Given the description of an element on the screen output the (x, y) to click on. 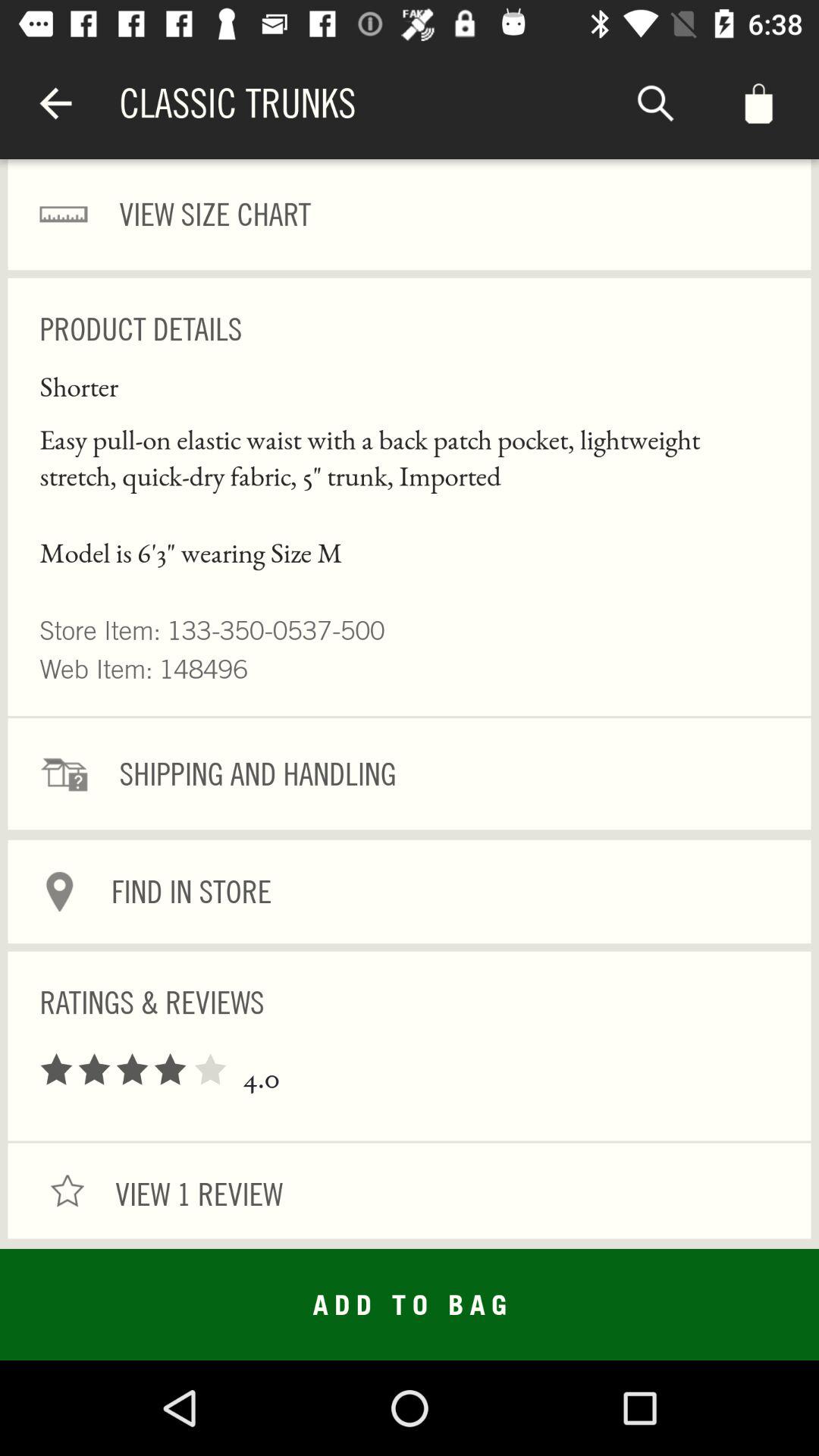
flip until find in store item (409, 891)
